Given the description of an element on the screen output the (x, y) to click on. 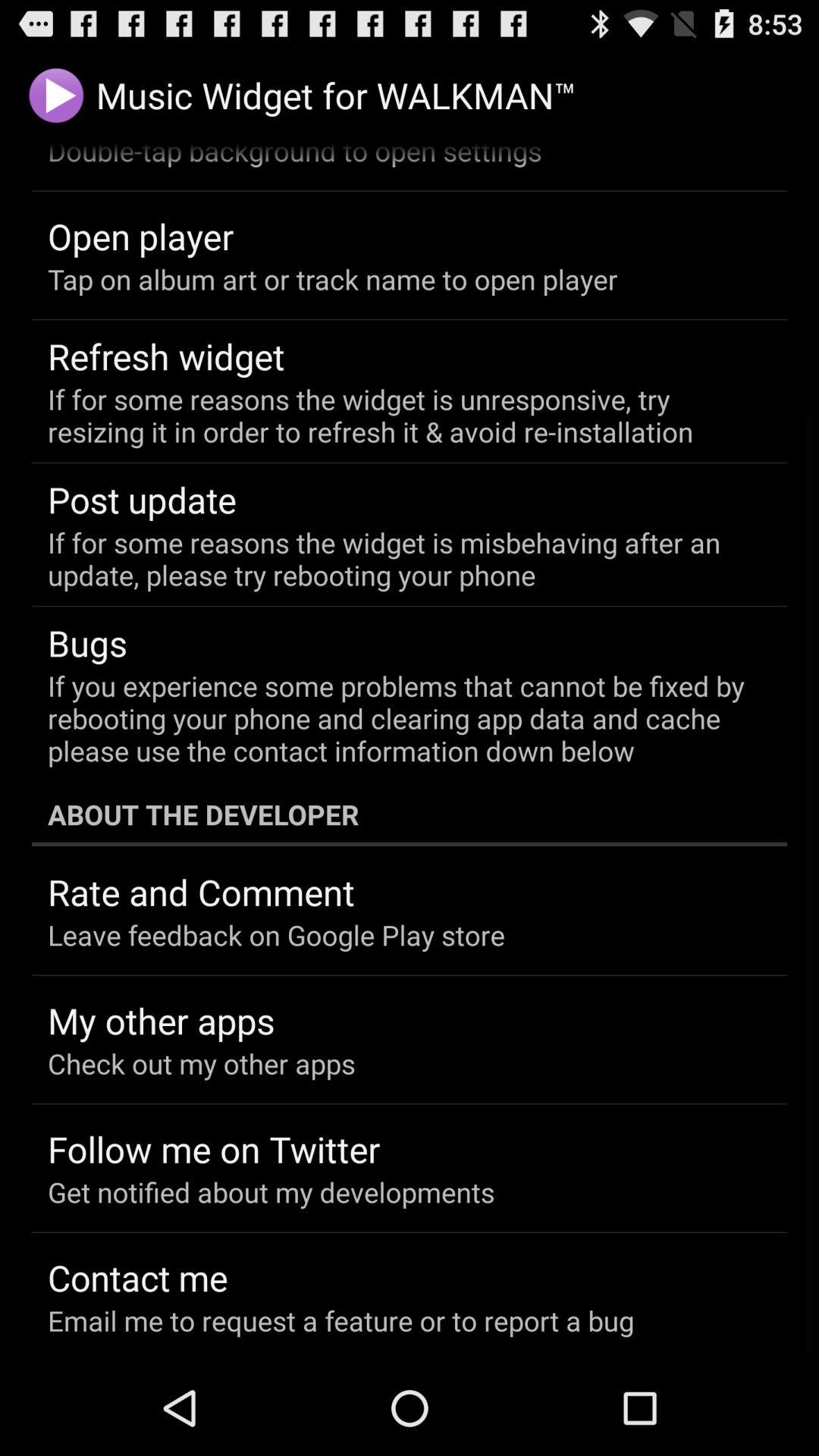
open the icon below my other apps icon (201, 1063)
